Given the description of an element on the screen output the (x, y) to click on. 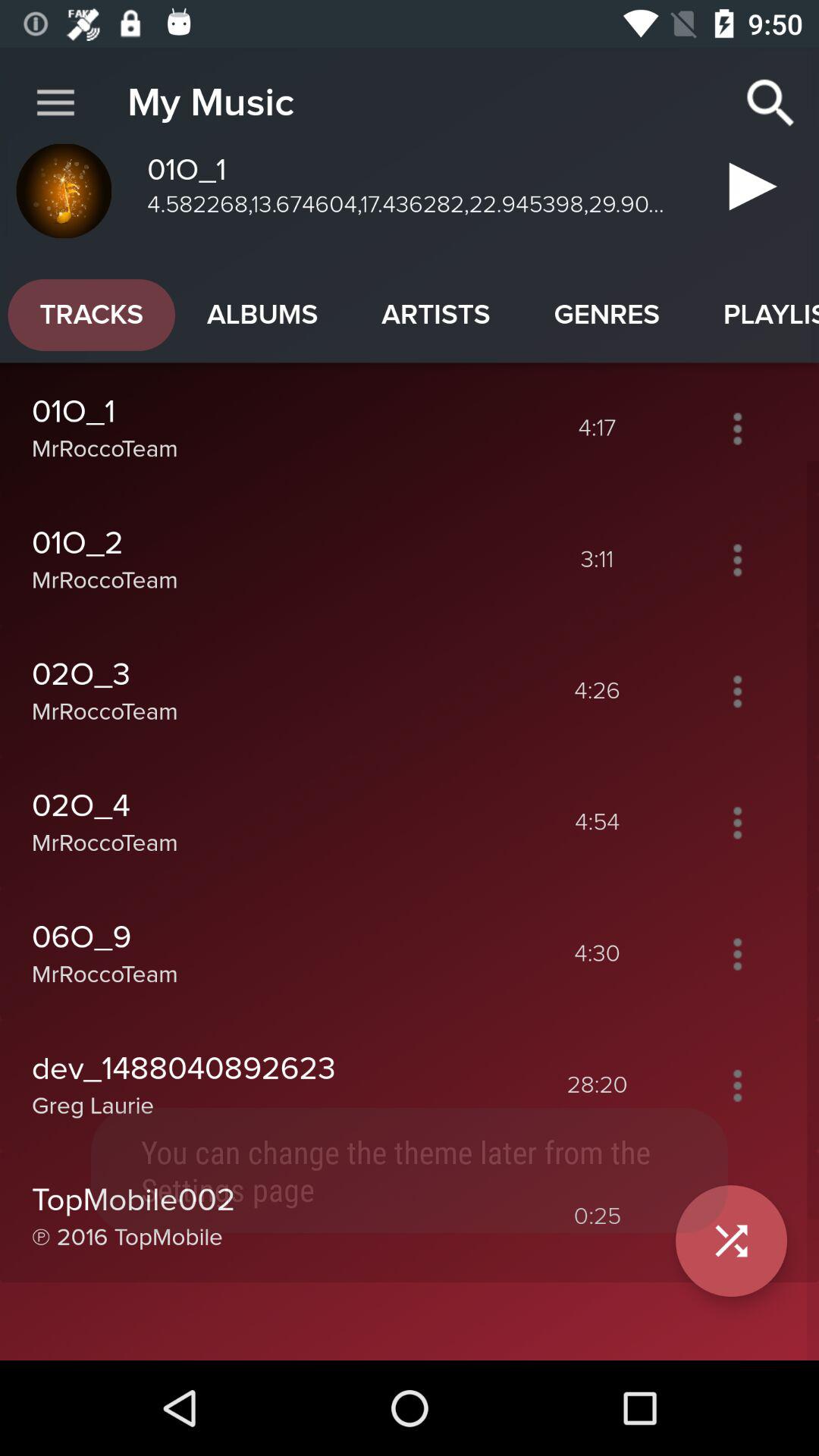
go to playlist (737, 1085)
